Given the description of an element on the screen output the (x, y) to click on. 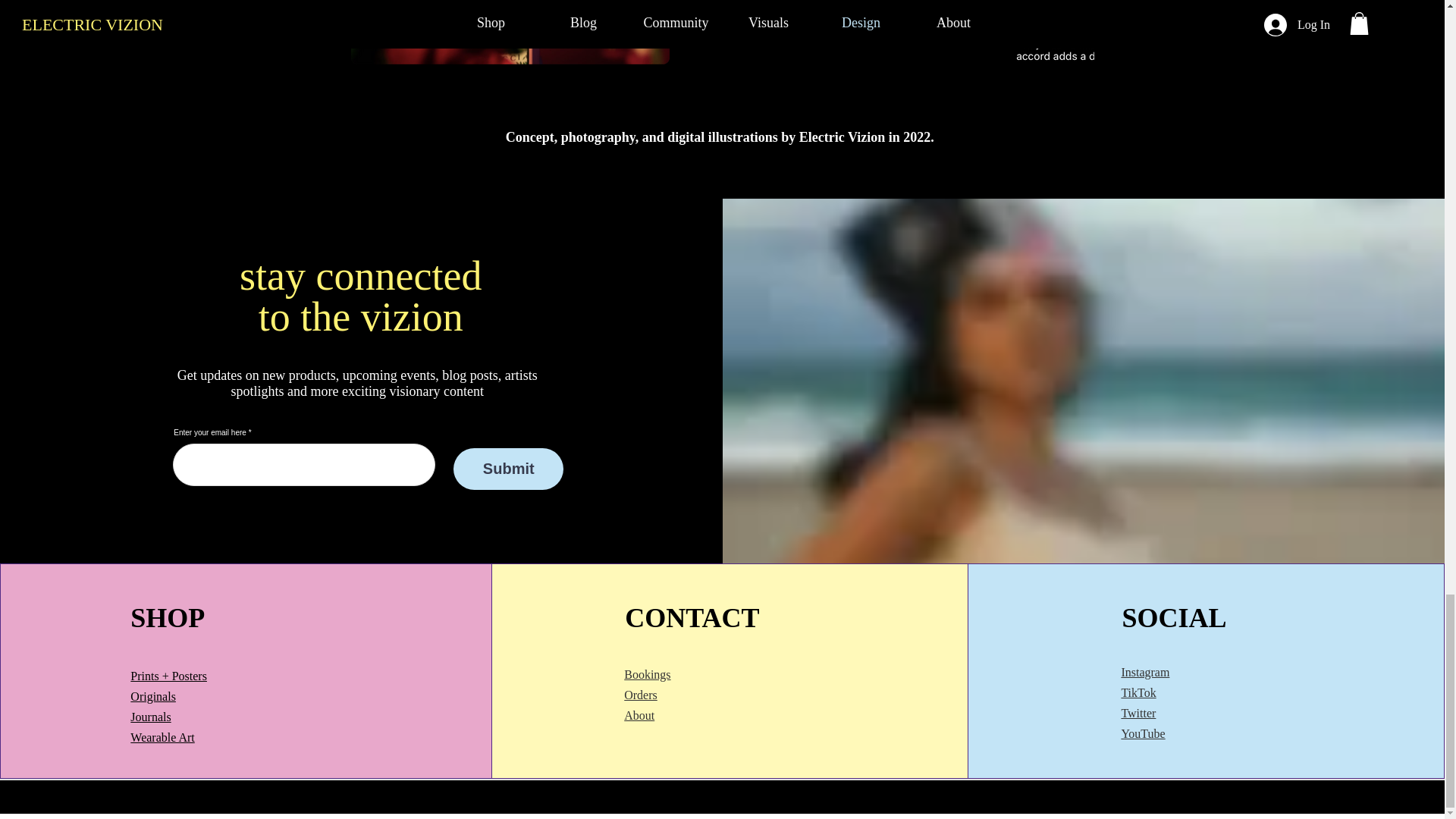
Journals (150, 716)
TikTok (1138, 692)
Originals (153, 696)
YouTube (1142, 733)
Wearable Art (162, 737)
Bookings (646, 674)
About (638, 715)
Instagram (1145, 671)
Submit (507, 468)
Orders (641, 694)
